Given the description of an element on the screen output the (x, y) to click on. 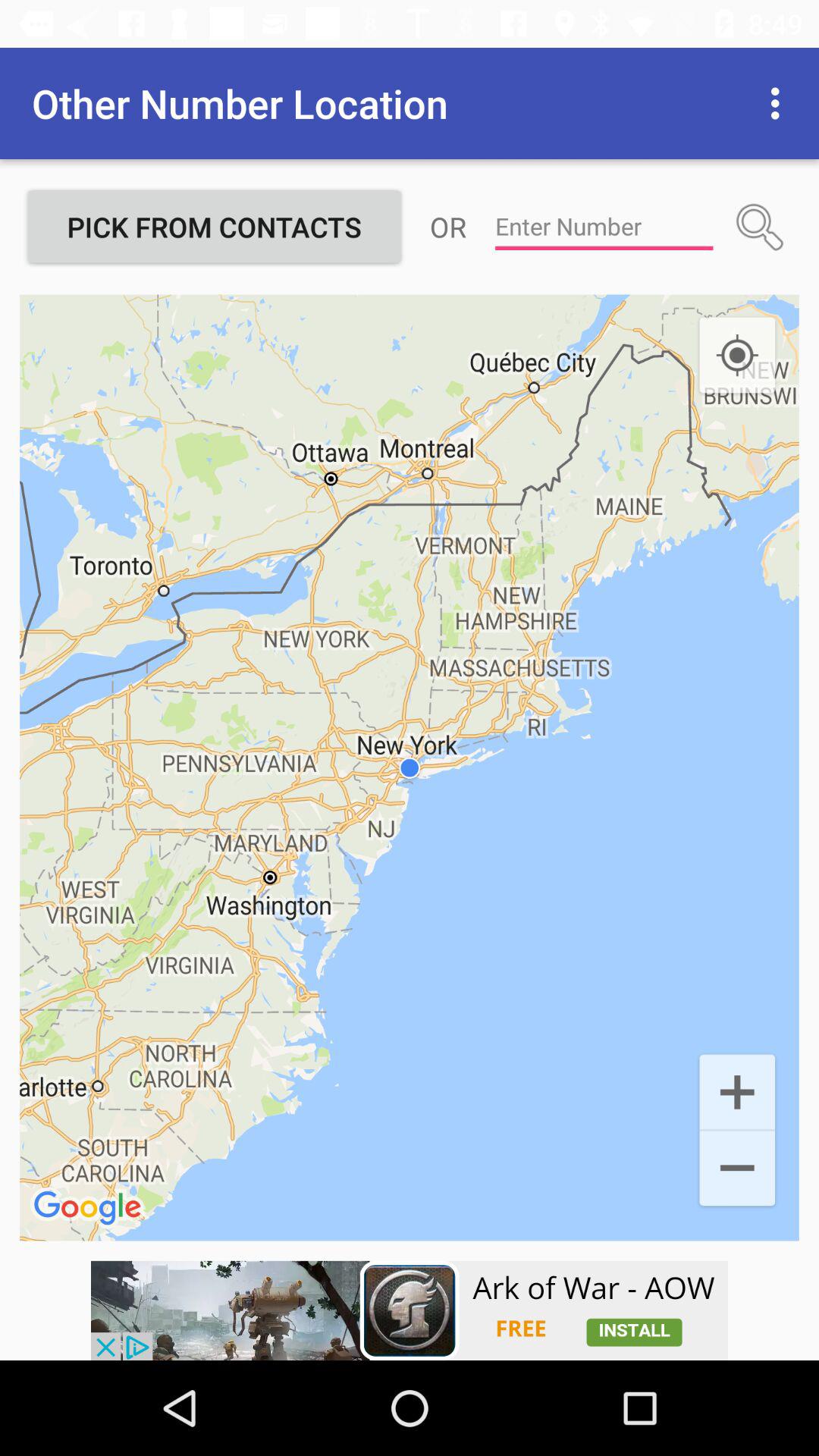
enter number box for searing (604, 226)
